Given the description of an element on the screen output the (x, y) to click on. 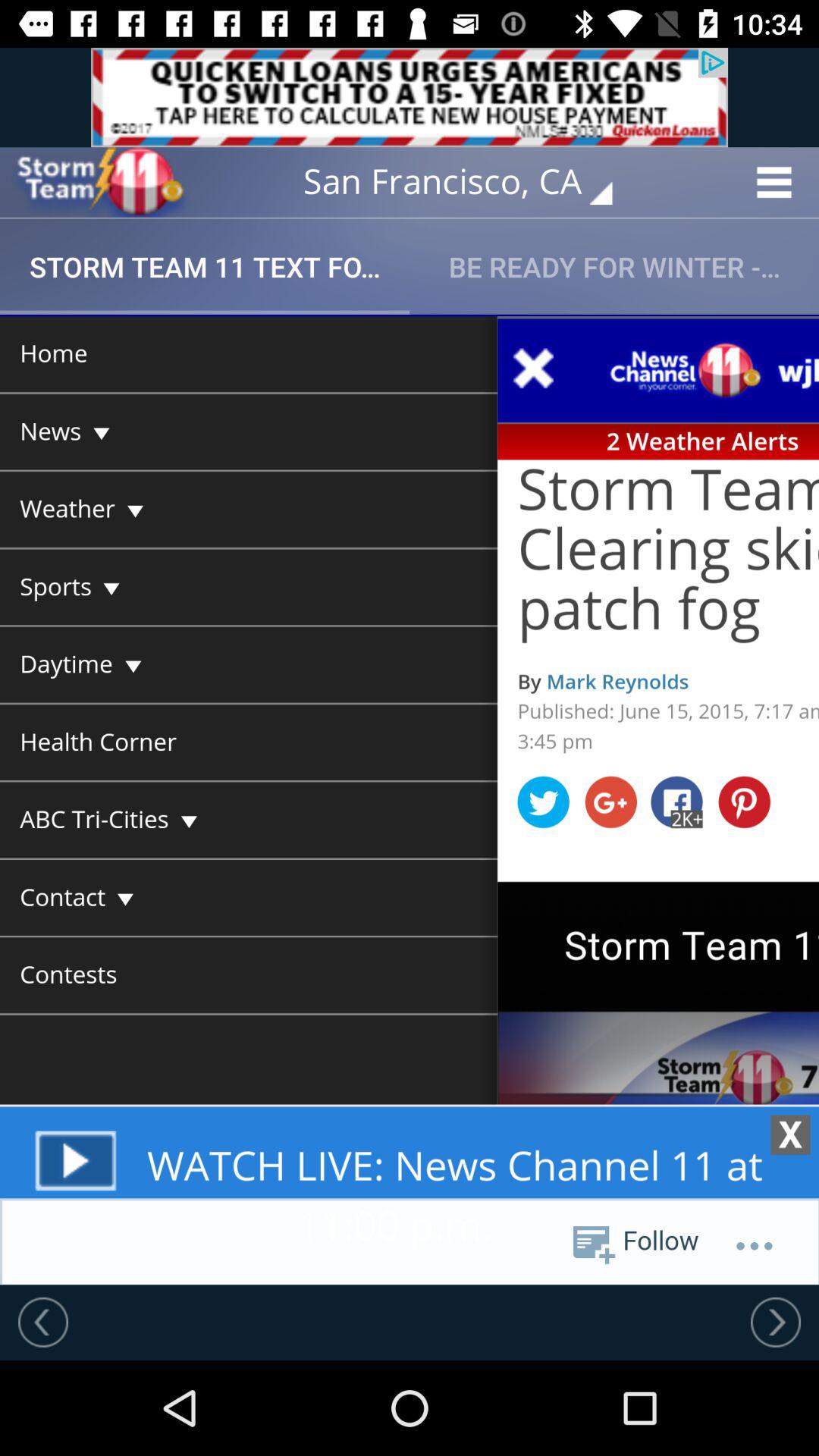
open weather forecast (99, 182)
